Given the description of an element on the screen output the (x, y) to click on. 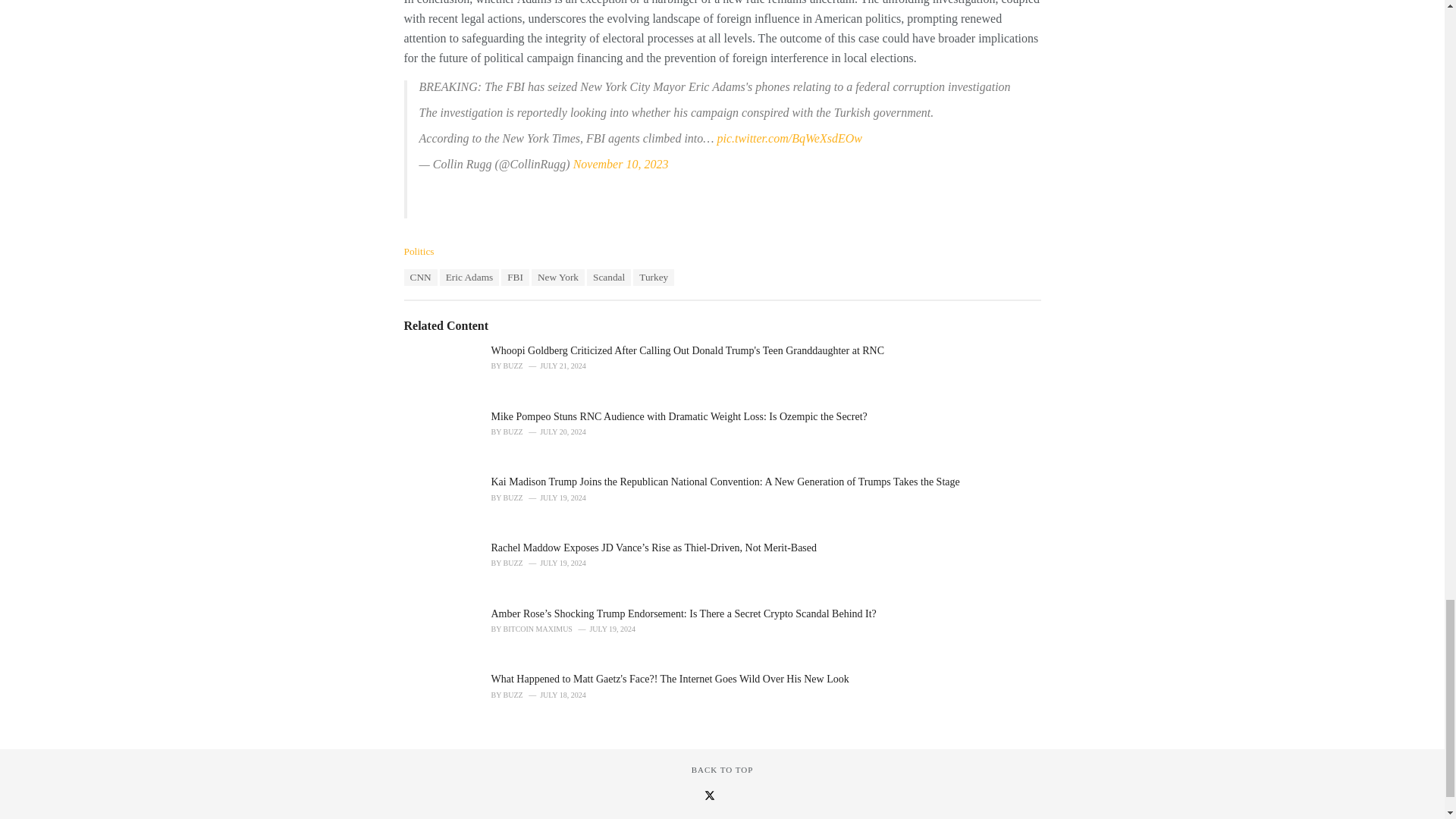
Scandal (608, 277)
Eric Adams (469, 277)
Turkey (653, 277)
BACK TO TOP (722, 768)
November 10, 2023 (620, 164)
CNN (419, 277)
Politics (418, 251)
New York (558, 277)
FBI (514, 277)
